Given the description of an element on the screen output the (x, y) to click on. 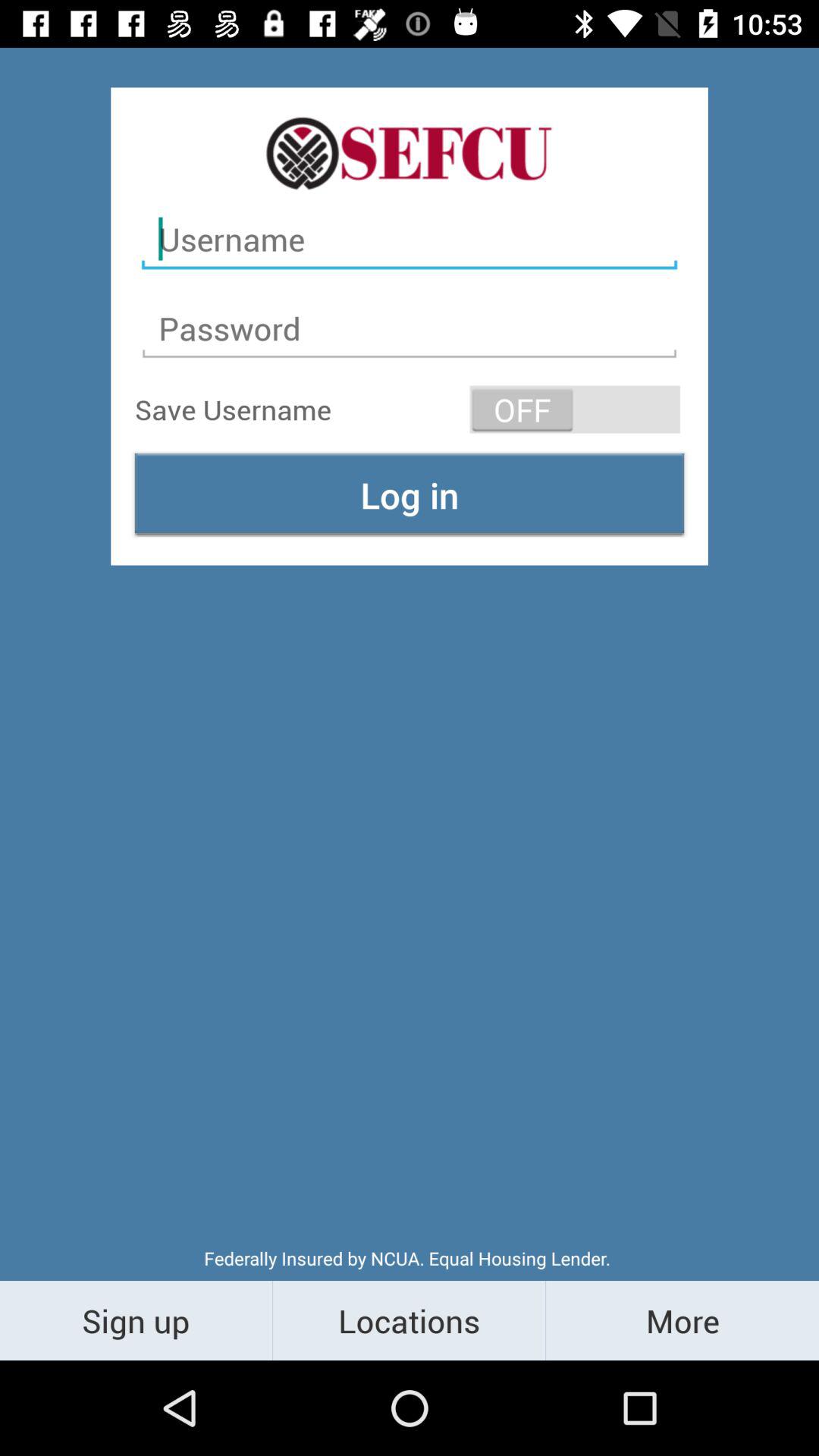
scroll to locations item (409, 1320)
